Given the description of an element on the screen output the (x, y) to click on. 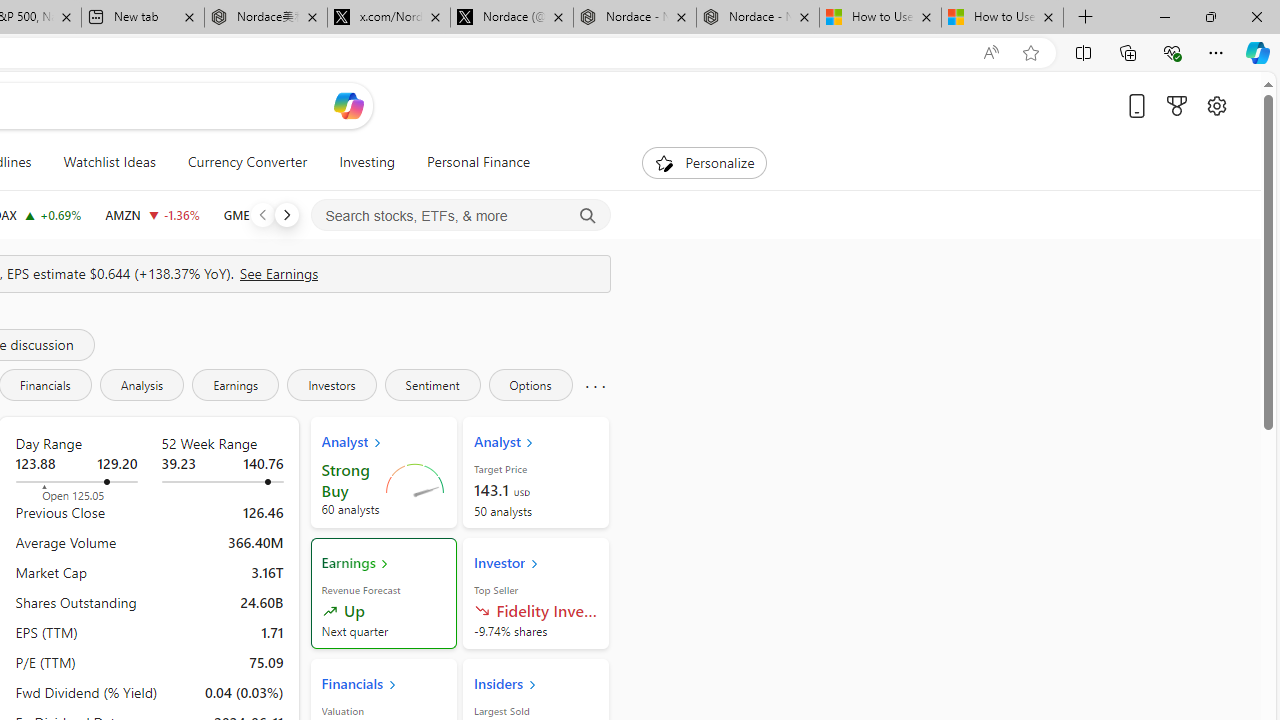
Investing (367, 162)
Options (530, 384)
Next (286, 214)
x.com/NordaceOfficial (388, 17)
Open Copilot (347, 105)
Nordace (@NordaceOfficial) / X (511, 17)
GME GAMESTOP CORP. decrease 20.74 -0.62 -2.90% (266, 214)
Watchlist Ideas (109, 162)
Currency Converter (247, 162)
Investors (331, 384)
Search stocks, ETFs, & more (461, 215)
